Given the description of an element on the screen output the (x, y) to click on. 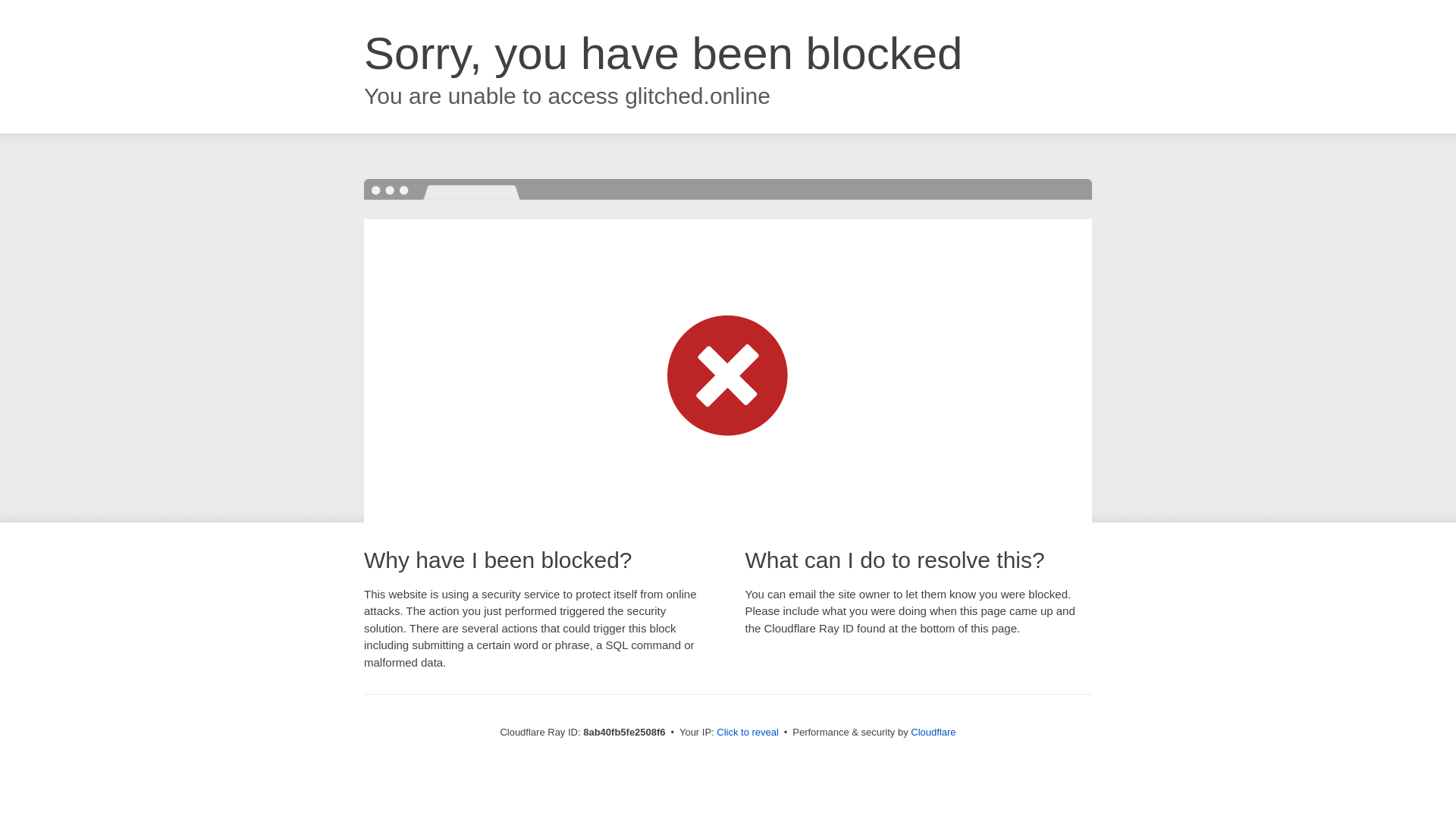
Cloudflare (933, 731)
Click to reveal (747, 732)
